Given the description of an element on the screen output the (x, y) to click on. 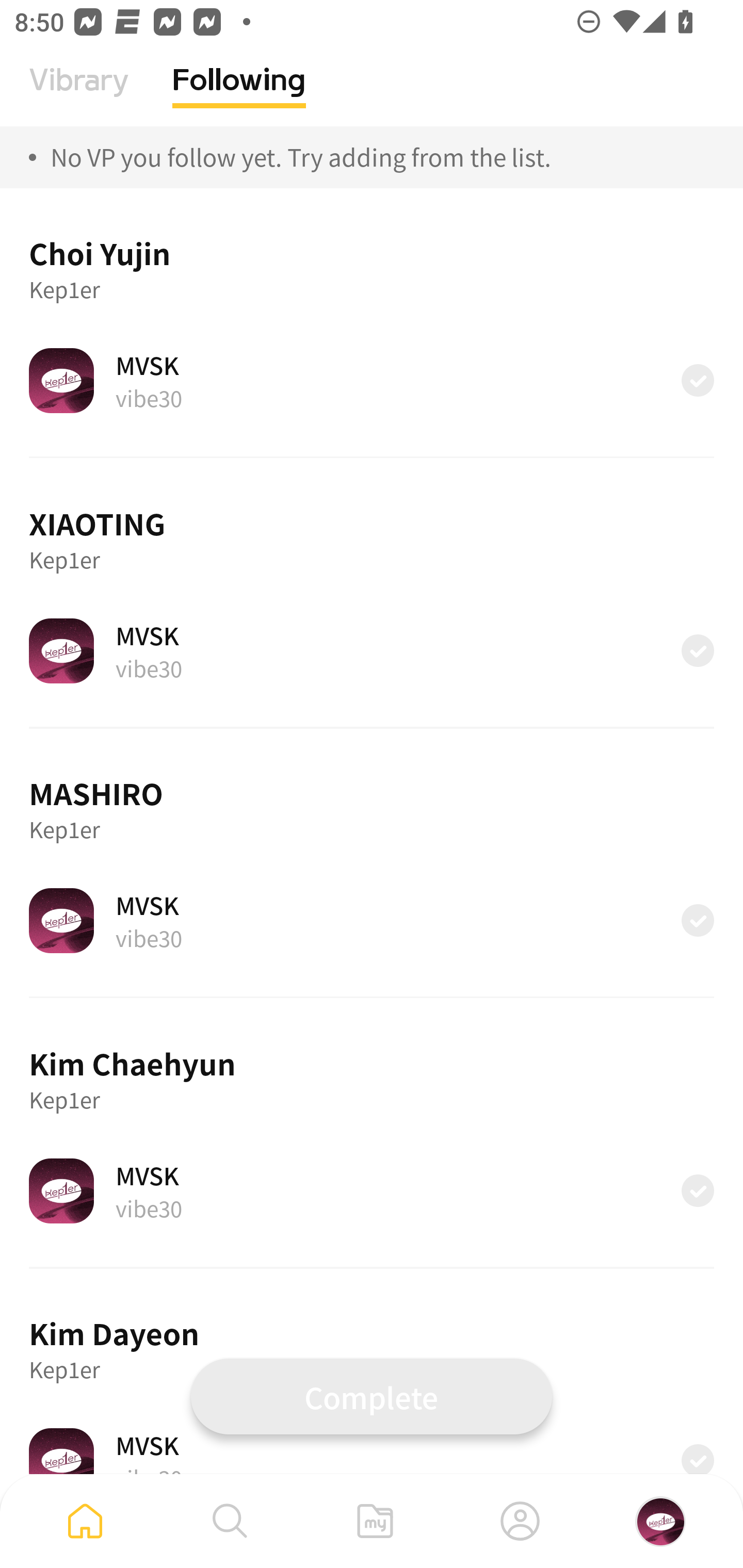
Vibrary (78, 95)
Following (239, 95)
MVSK vibe30 (371, 380)
MVSK vibe30 (371, 650)
MVSK vibe30 (371, 920)
MVSK vibe30 (371, 1190)
Complete (371, 1395)
MVSK vibe30 (371, 1450)
